Given the description of an element on the screen output the (x, y) to click on. 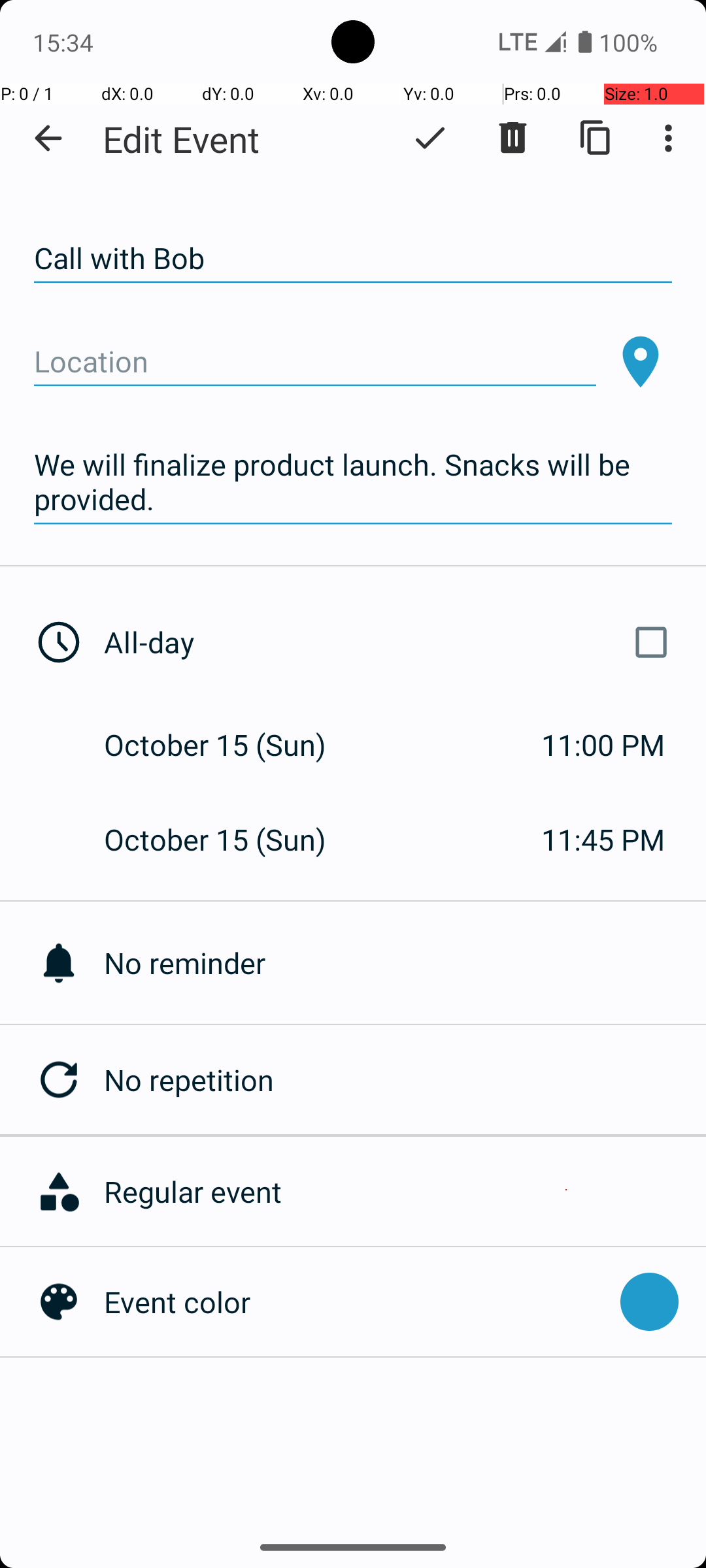
Call with Bob Element type: android.widget.EditText (352, 258)
We will finalize product launch. Snacks will be provided. Element type: android.widget.EditText (352, 482)
11:00 PM Element type: android.widget.TextView (602, 744)
11:45 PM Element type: android.widget.TextView (602, 838)
